Given the description of an element on the screen output the (x, y) to click on. 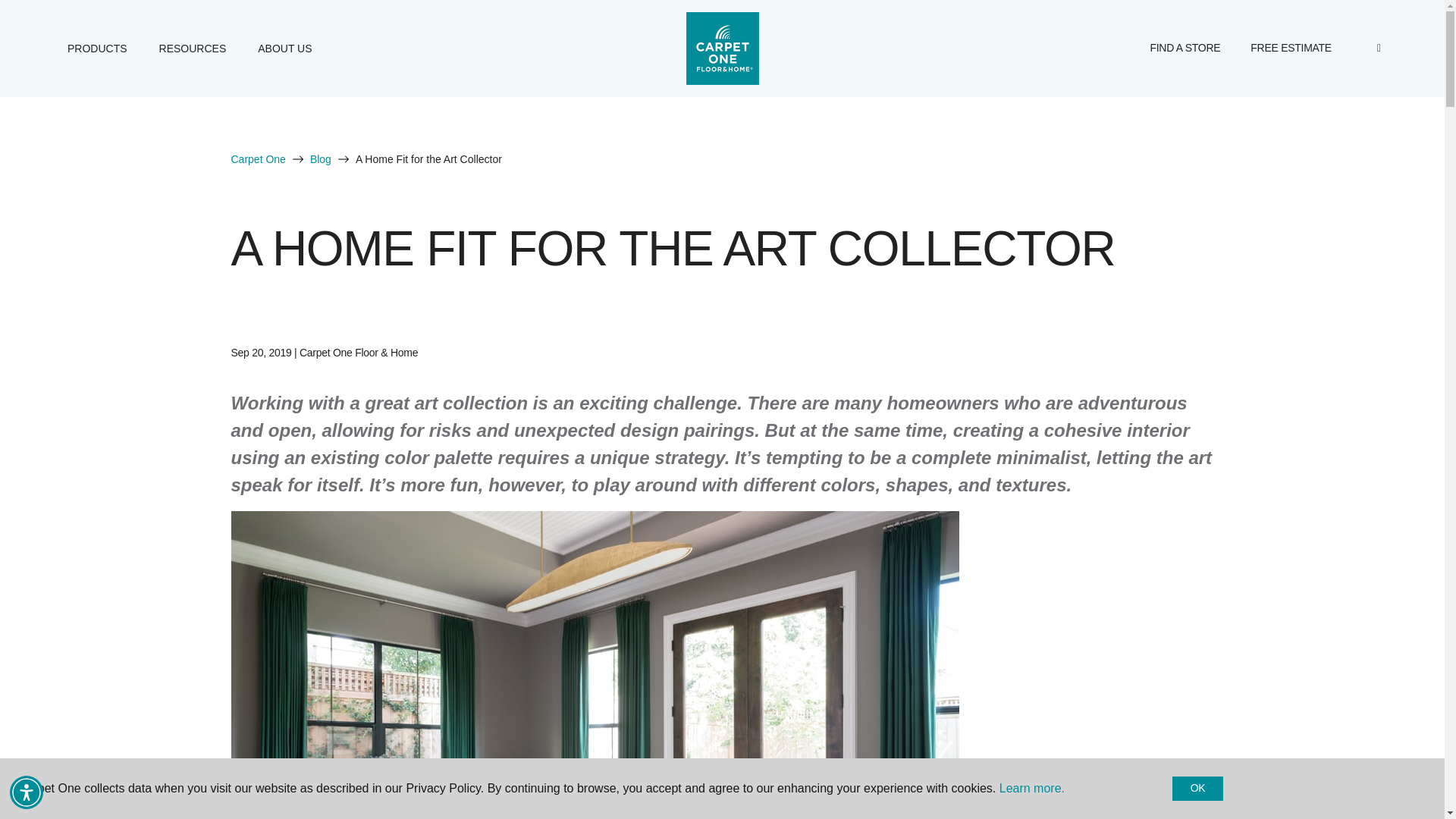
FIND A STORE (1184, 48)
RESOURCES (193, 48)
FREE ESTIMATE (1291, 48)
ABOUT US (284, 48)
Accessibility Menu (26, 792)
PRODUCTS (97, 48)
